Given the description of an element on the screen output the (x, y) to click on. 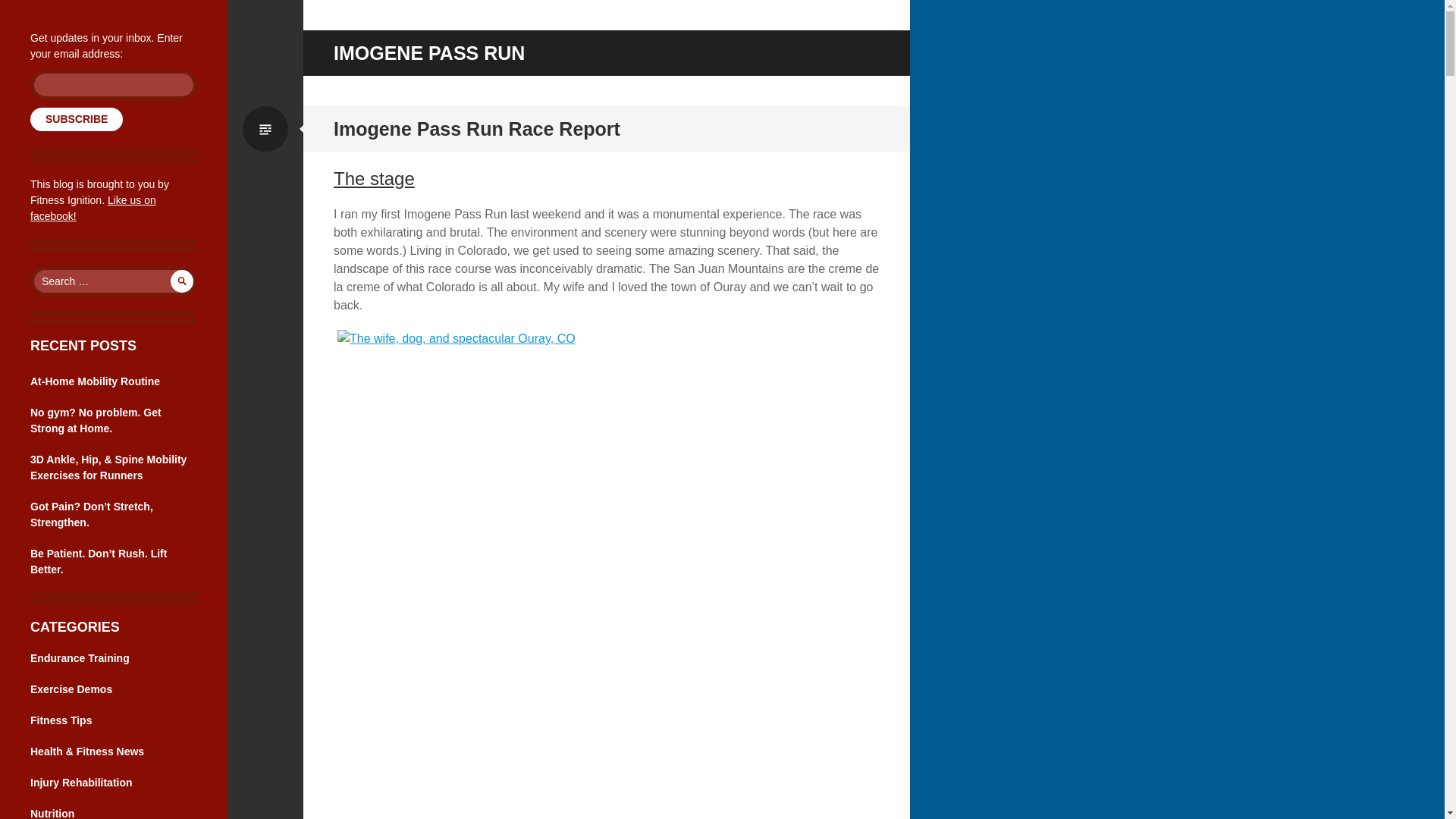
Nutrition (52, 813)
Injury Rehabilitation (81, 782)
No gym? No problem. Get Strong at Home. (95, 420)
At-Home Mobility Routine (95, 381)
Like us on facebook! (92, 207)
Exercise Demos (71, 689)
Imogene Pass Run Race Report (476, 128)
Endurance Training (79, 657)
Subscribe (76, 119)
Search for: (113, 281)
